Given the description of an element on the screen output the (x, y) to click on. 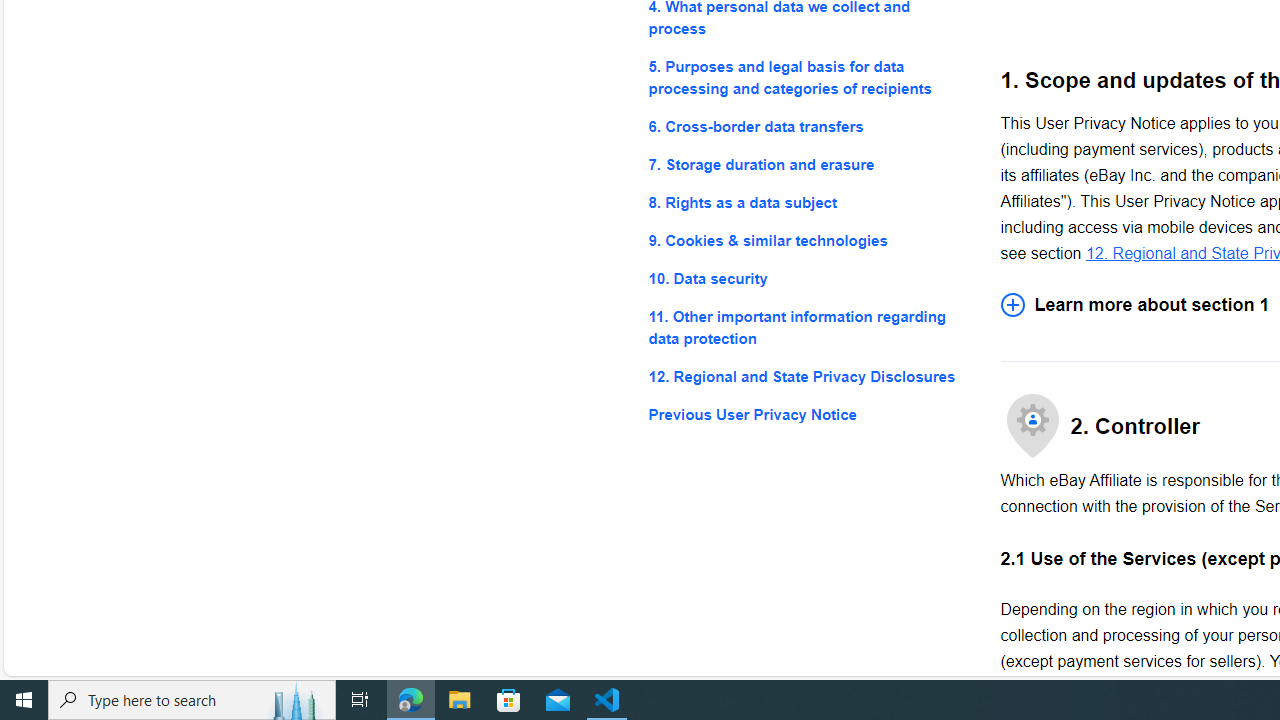
Previous User Privacy Notice (807, 414)
8. Rights as a data subject (807, 203)
7. Storage duration and erasure (807, 164)
7. Storage duration and erasure (807, 164)
9. Cookies & similar technologies (807, 240)
11. Other important information regarding data protection (807, 328)
6. Cross-border data transfers (807, 126)
9. Cookies & similar technologies (807, 240)
10. Data security (807, 278)
Previous User Privacy Notice (807, 414)
12. Regional and State Privacy Disclosures (807, 376)
10. Data security (807, 278)
8. Rights as a data subject (807, 203)
6. Cross-border data transfers (807, 126)
11. Other important information regarding data protection (807, 328)
